Given the description of an element on the screen output the (x, y) to click on. 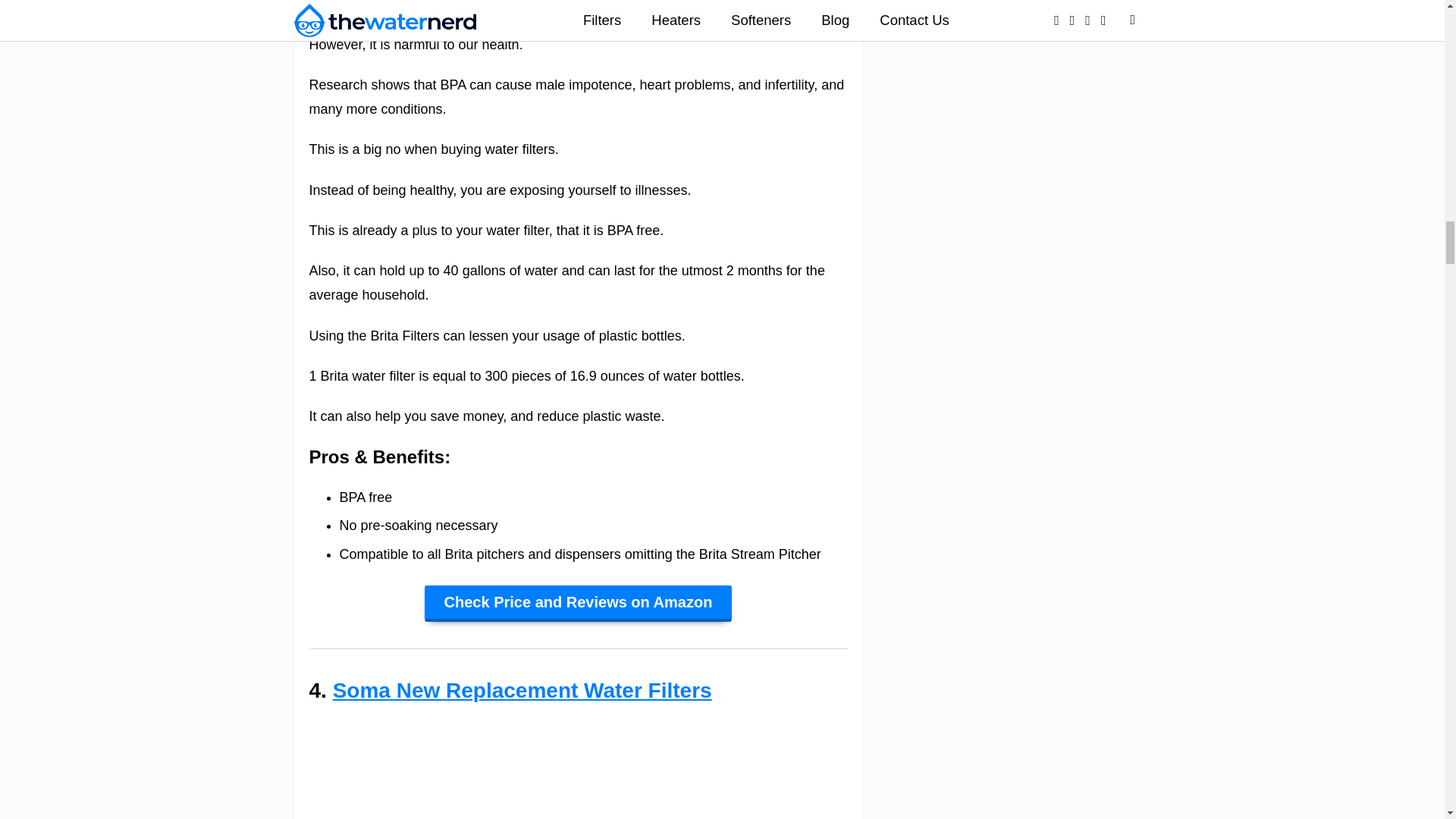
Soma New Replacement Water Filters (522, 689)
Check Price and Reviews on Amazon (578, 603)
Check Price and Reviews on Amazon (578, 603)
Soma New Replacement Water Filters (522, 689)
